Given the description of an element on the screen output the (x, y) to click on. 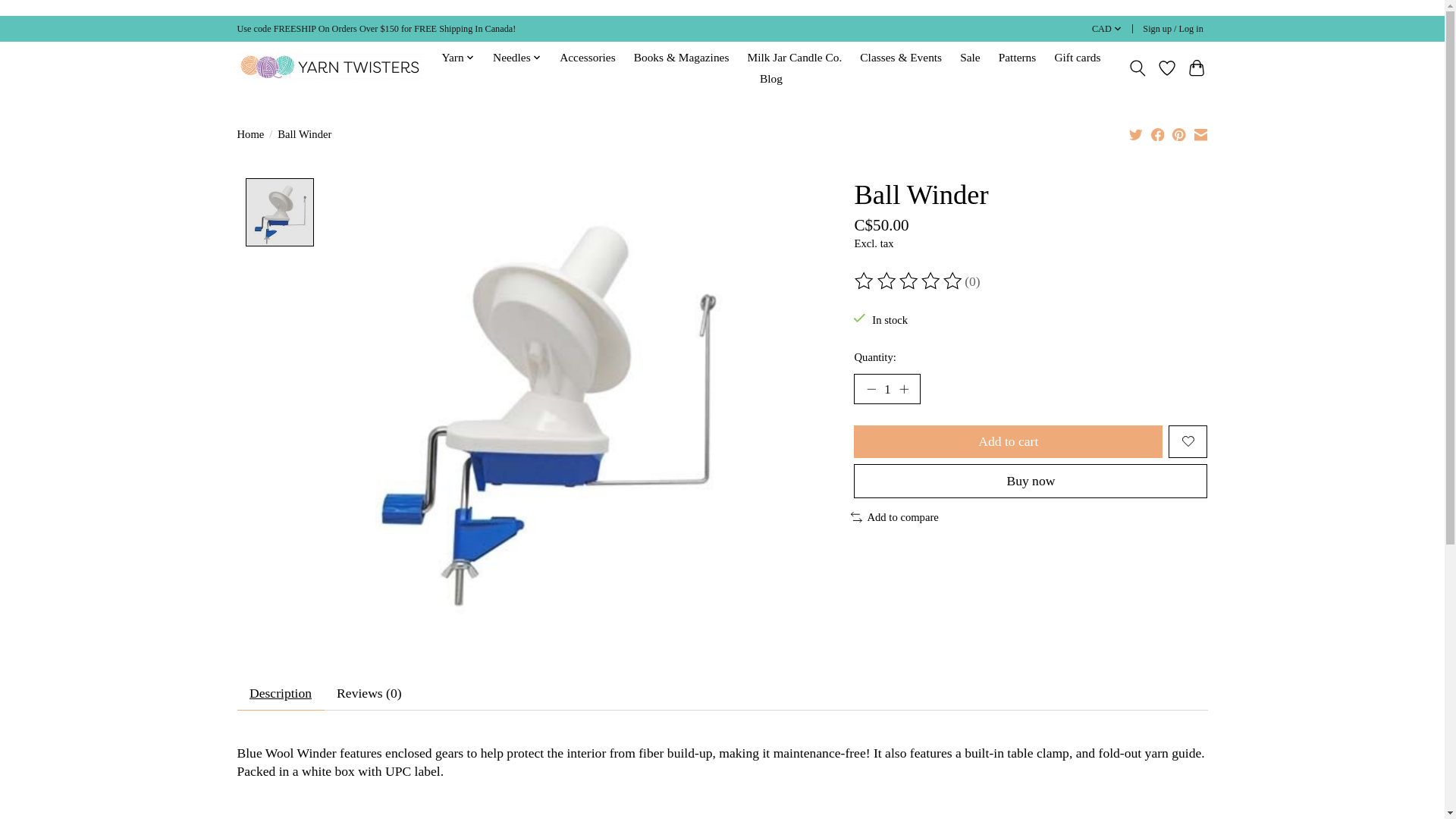
Patterns (1017, 56)
Share on Twitter (1135, 133)
Share by Email (1200, 133)
Share on Facebook (1157, 133)
Sale (970, 56)
Accessories (587, 56)
Milk Jar Candle Co. (794, 56)
Needles (517, 56)
Share on Pinterest (1178, 133)
Yarn Twisters (328, 67)
